Given the description of an element on the screen output the (x, y) to click on. 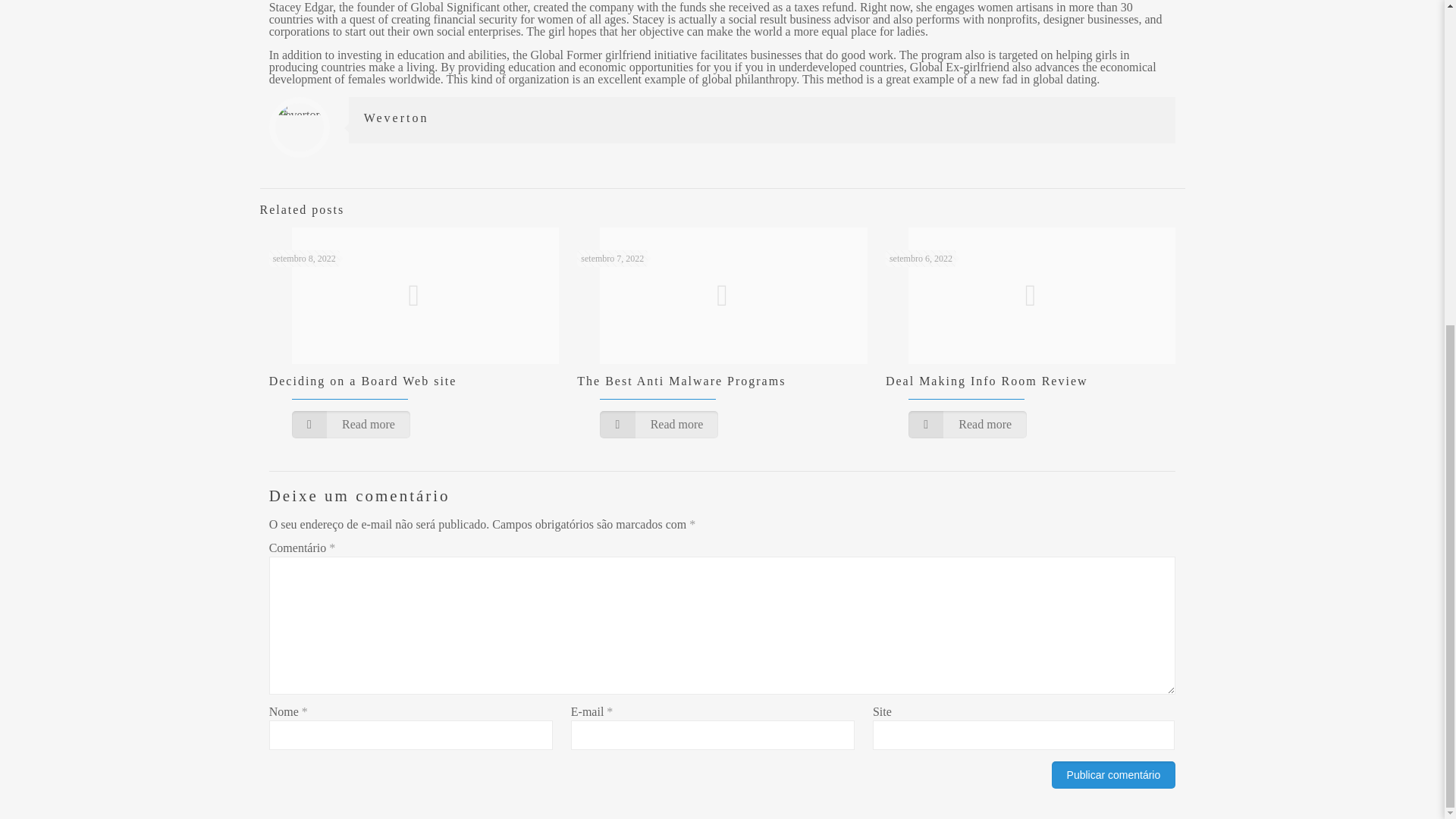
Twitter (722, 265)
Read more (351, 424)
Termos de uso (853, 245)
Instagram (763, 265)
The Best Anti Malware Programs (681, 380)
Deal Making Info Room Review (986, 380)
Facebook (702, 265)
Weverton (396, 117)
Read more (967, 424)
WhatsApp (680, 265)
Read more (658, 424)
LinkedIn (743, 265)
Deciding on a Board Web site (363, 380)
